Given the description of an element on the screen output the (x, y) to click on. 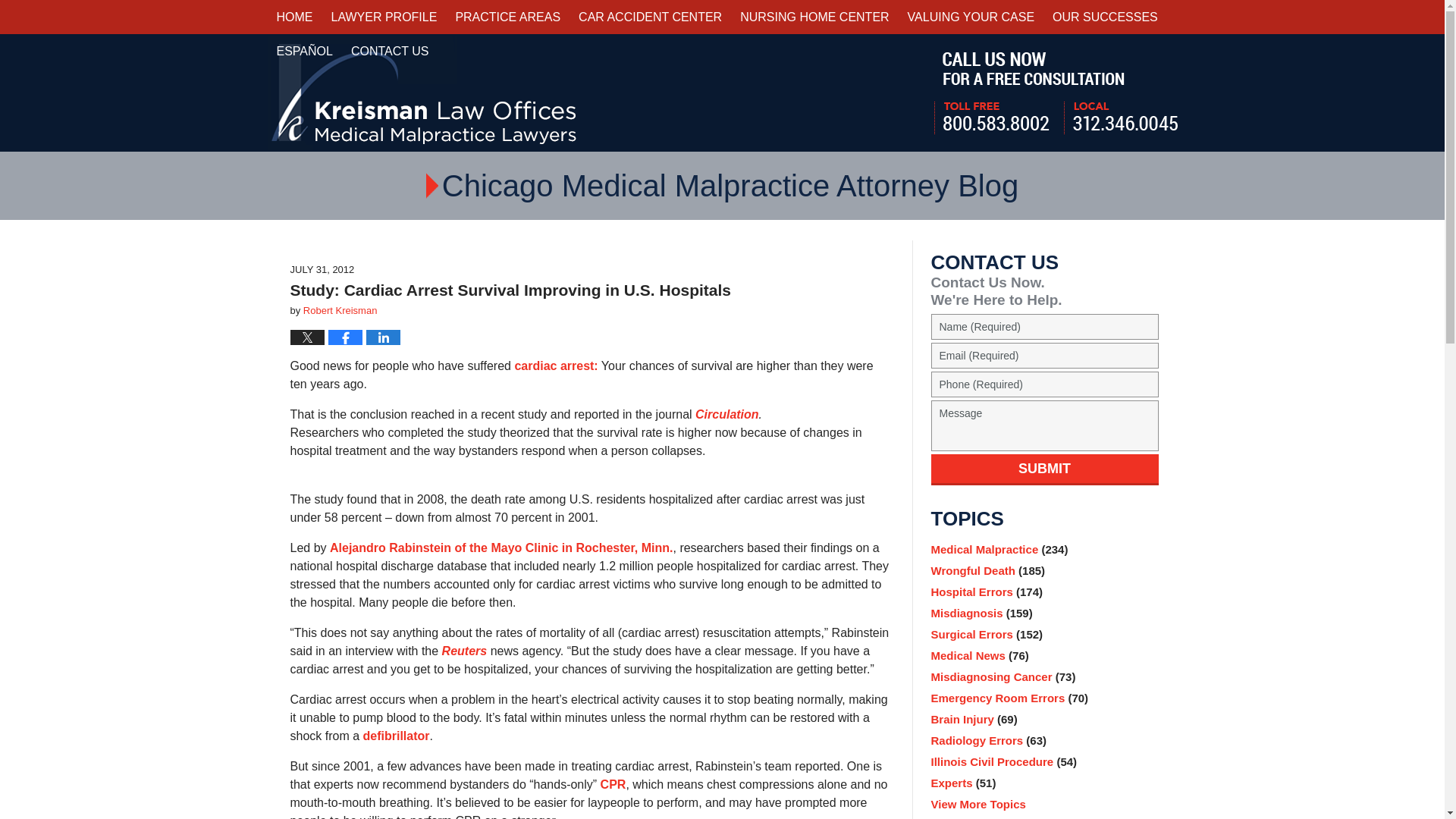
Please enter a valid phone number. (1044, 384)
PRACTICE AREAS (507, 17)
HOME (293, 17)
CAR ACCIDENT CENTER (649, 17)
OUR SUCCESSES (1105, 17)
LAWYER PROFILE (383, 17)
Kreisman Law Offices Professional Corporation (423, 92)
NURSING HOME CENTER (814, 17)
VALUING YOUR CASE (970, 17)
CONTACT US (390, 50)
